Given the description of an element on the screen output the (x, y) to click on. 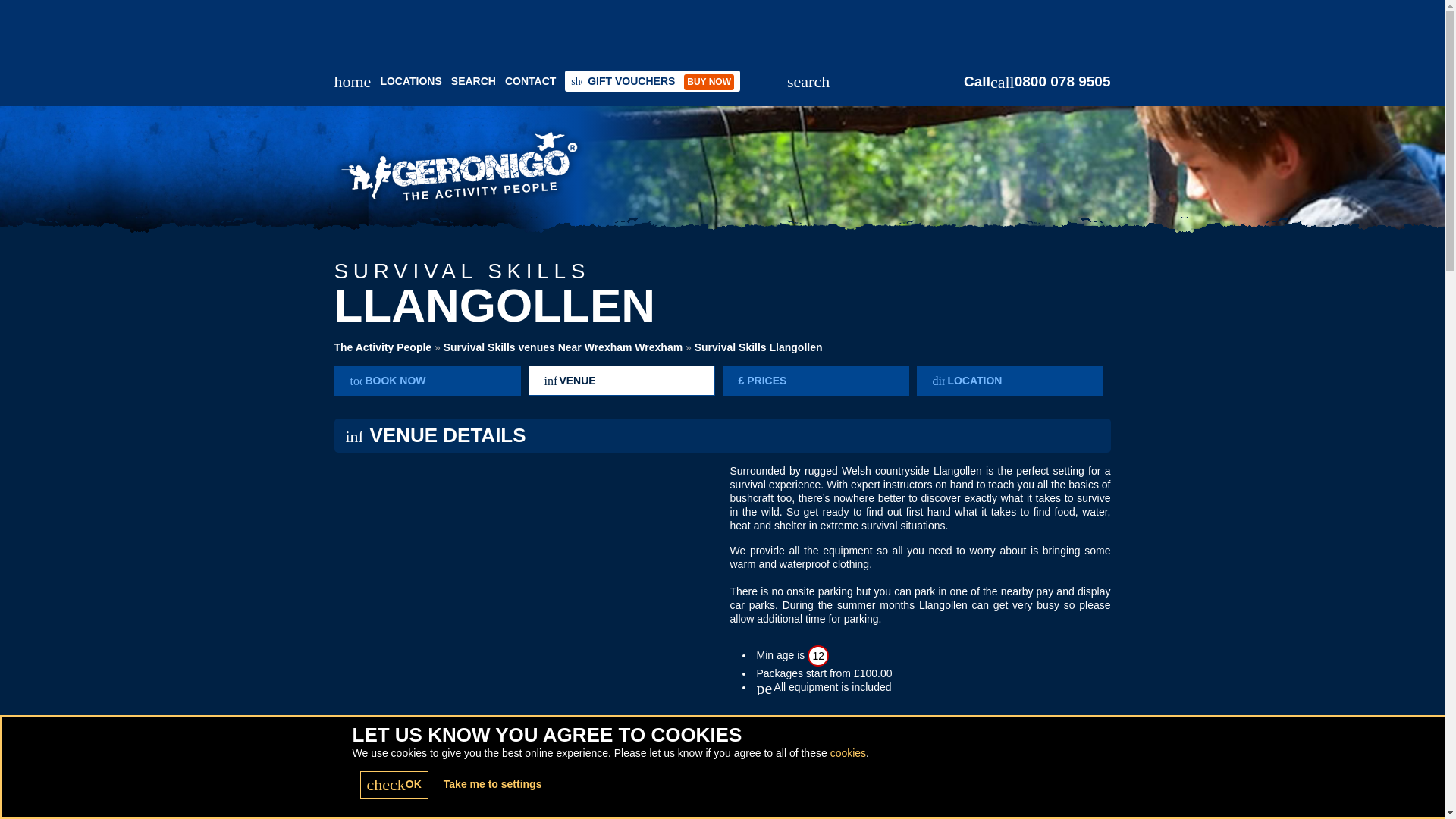
home (352, 81)
The Activity People (381, 346)
Survival Skills Llangollen (758, 346)
Survival Skills venues Near Wrexham Wrexham (563, 346)
directions LOCATION (1008, 380)
venue Details (620, 380)
search (808, 81)
LOCATIONS (410, 80)
information VENUE (620, 380)
SEARCH (473, 80)
Survival Skills Llangollen (758, 346)
Call 0800 078 9505 (1036, 81)
Survival Skills venue Near Wrexham Wrexham (563, 346)
The Activity People Adrenalin Activities (585, 170)
CONTACT (530, 80)
